Given the description of an element on the screen output the (x, y) to click on. 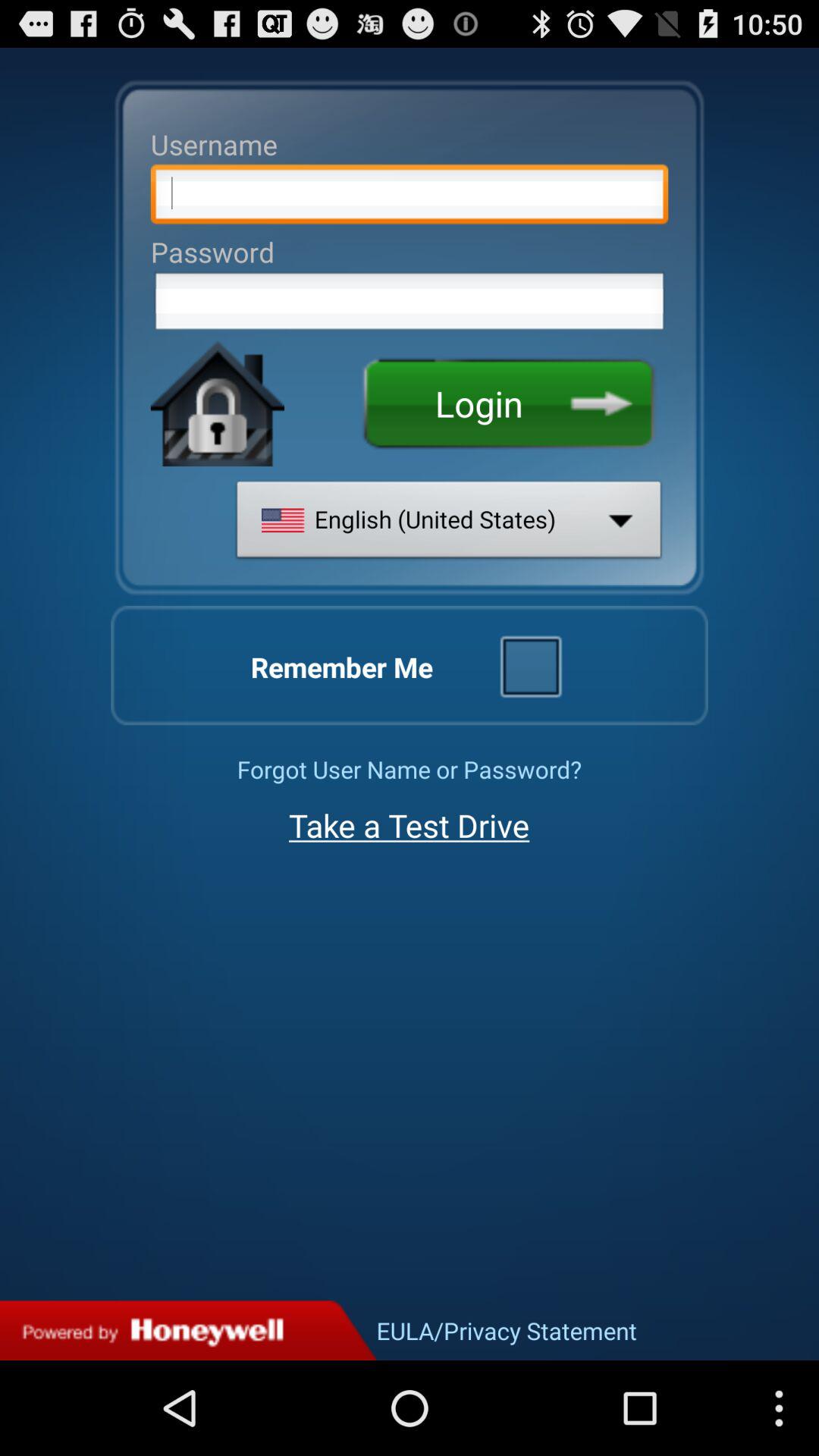
password input box (409, 305)
